Given the description of an element on the screen output the (x, y) to click on. 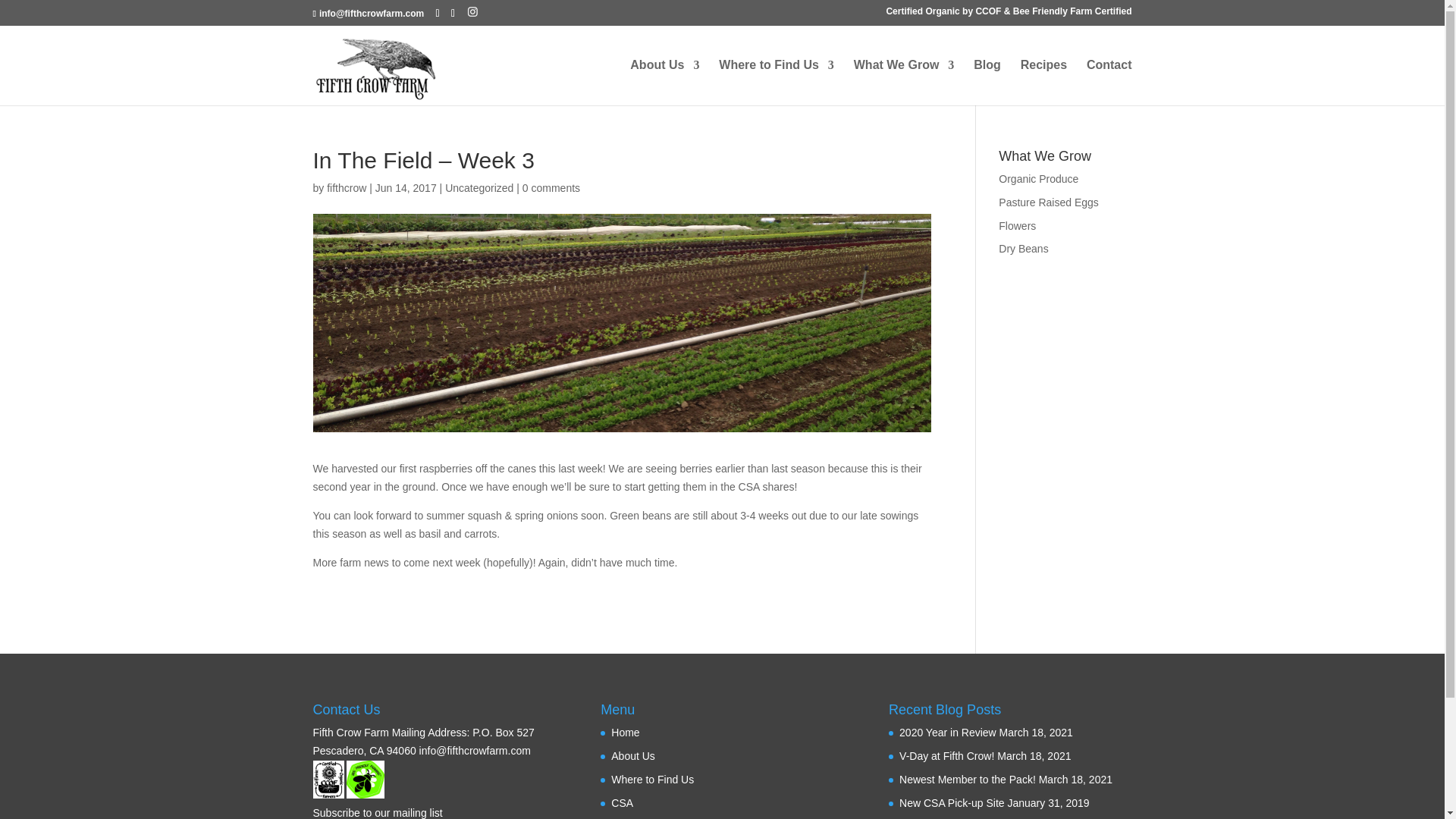
Where to Find Us (776, 82)
Contact (1109, 82)
Recipes (1043, 82)
Posts by fifthcrow (346, 187)
Bee Friendly Farming (365, 779)
About Us (664, 82)
What We Grow (904, 82)
